Given the description of an element on the screen output the (x, y) to click on. 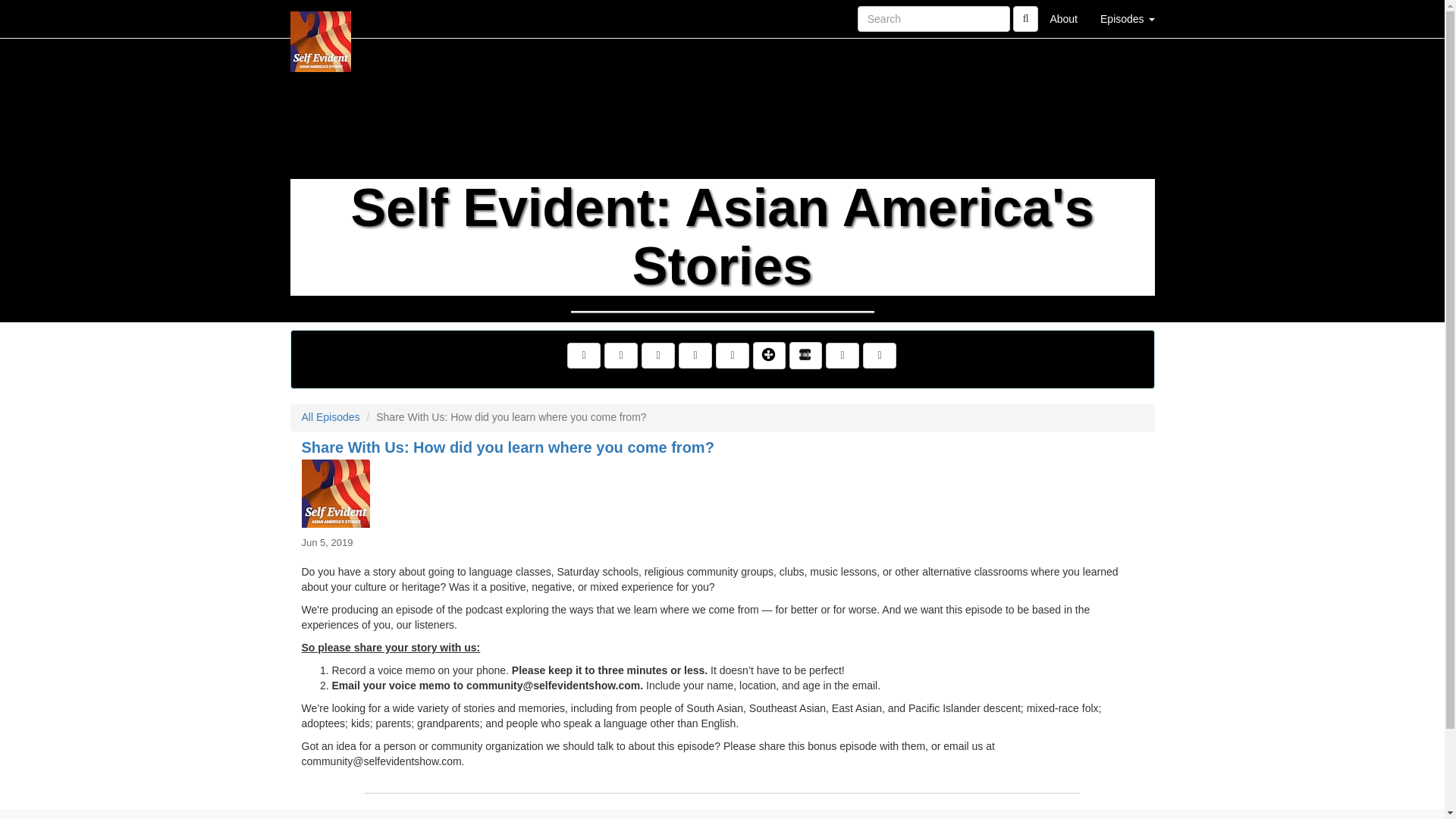
About (1063, 18)
Home Page (320, 18)
Episodes (1127, 18)
Share With Us: How did you learn where you come from? (721, 493)
